Given the description of an element on the screen output the (x, y) to click on. 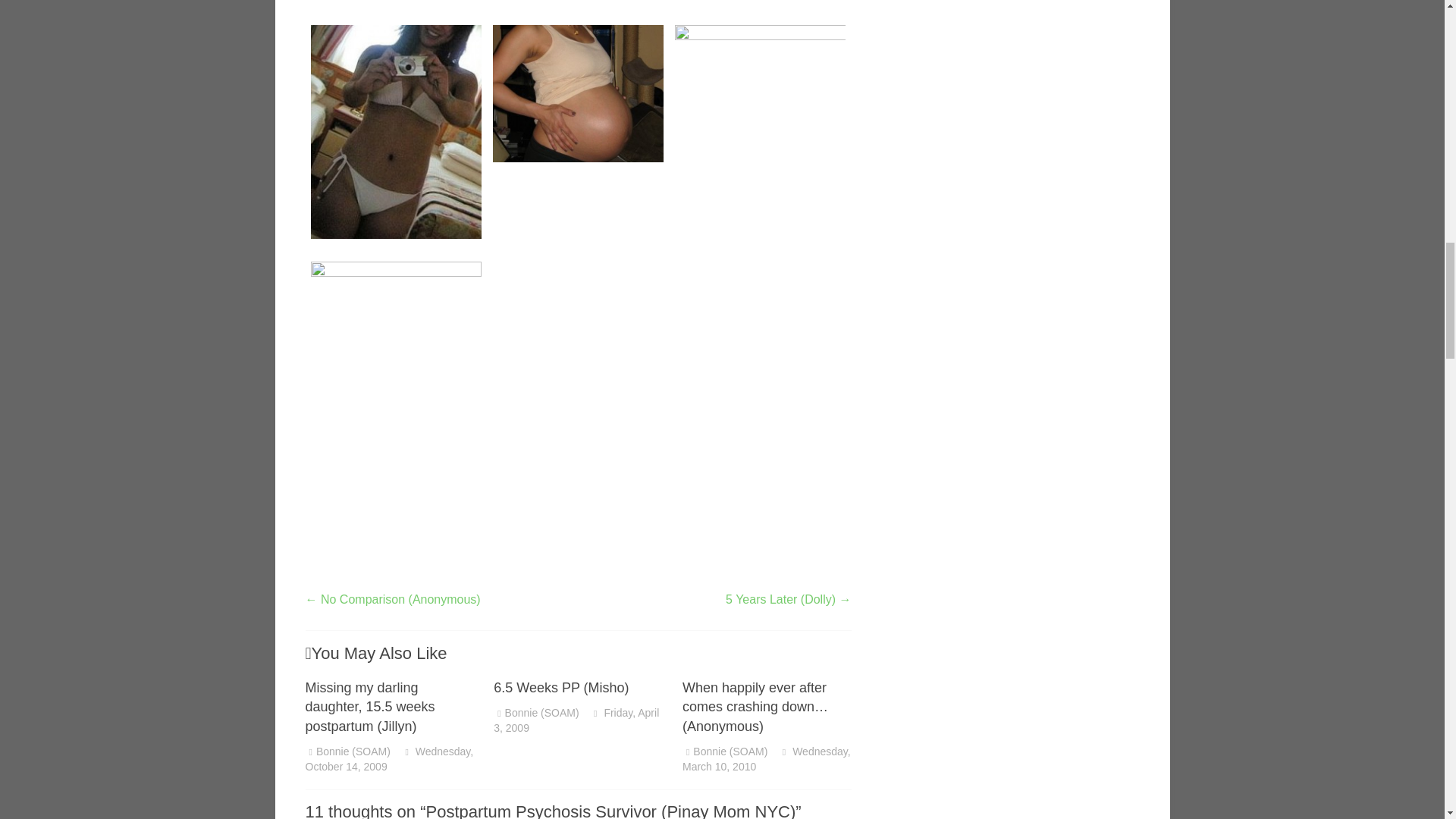
10:38 am (576, 719)
11:07 am (388, 759)
11:39 am (766, 759)
Wednesday, October 14, 2009 (388, 759)
